Given the description of an element on the screen output the (x, y) to click on. 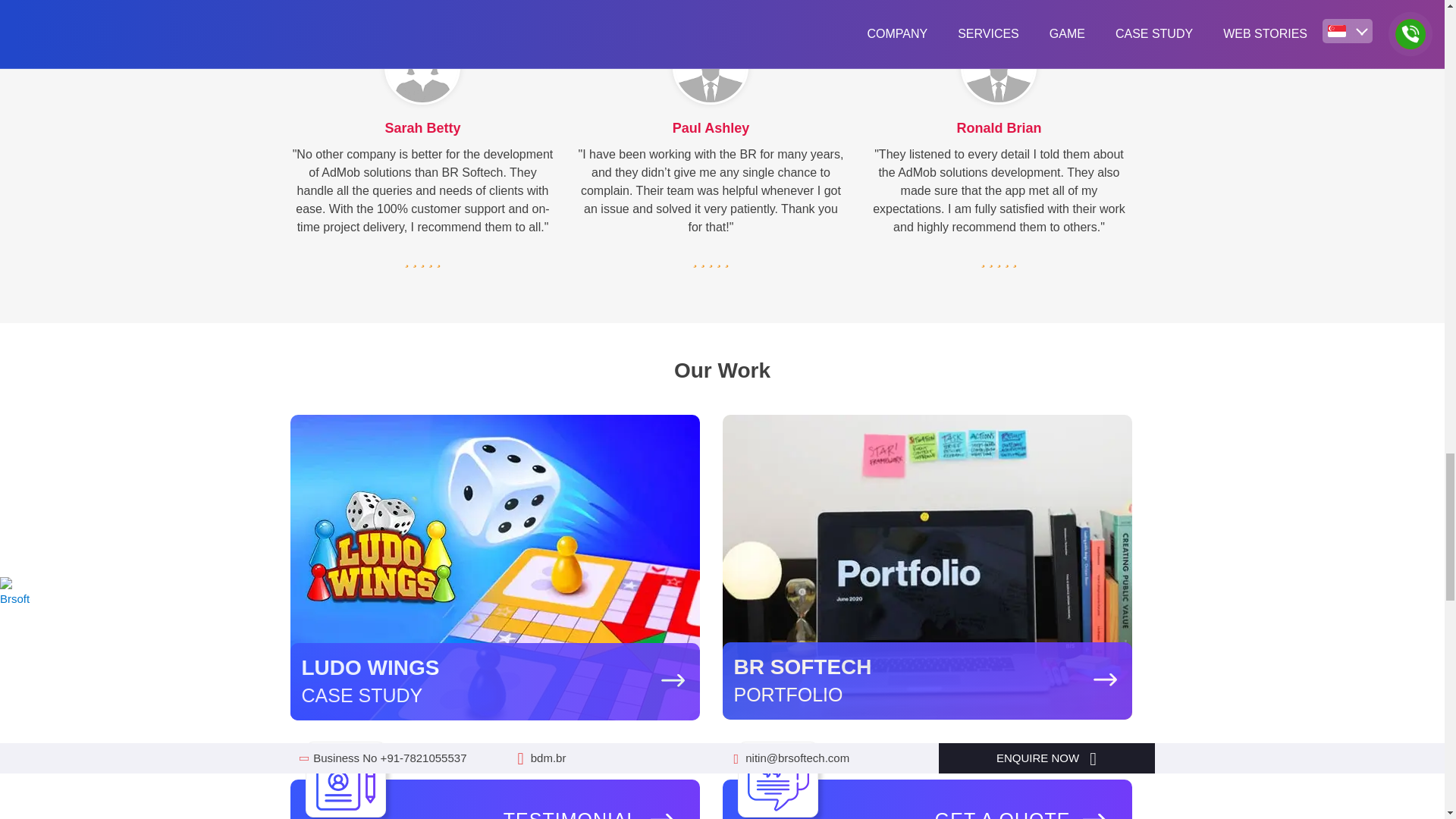
Right Icon5 (1093, 816)
Right Icon3 (345, 780)
Right Icon (672, 680)
Sarah Betty (422, 66)
Ronald Brian (997, 66)
Right Icon4 (660, 816)
Paul Ashley (710, 66)
Right Icon2 (1104, 679)
quote Icon (777, 780)
